Given the description of an element on the screen output the (x, y) to click on. 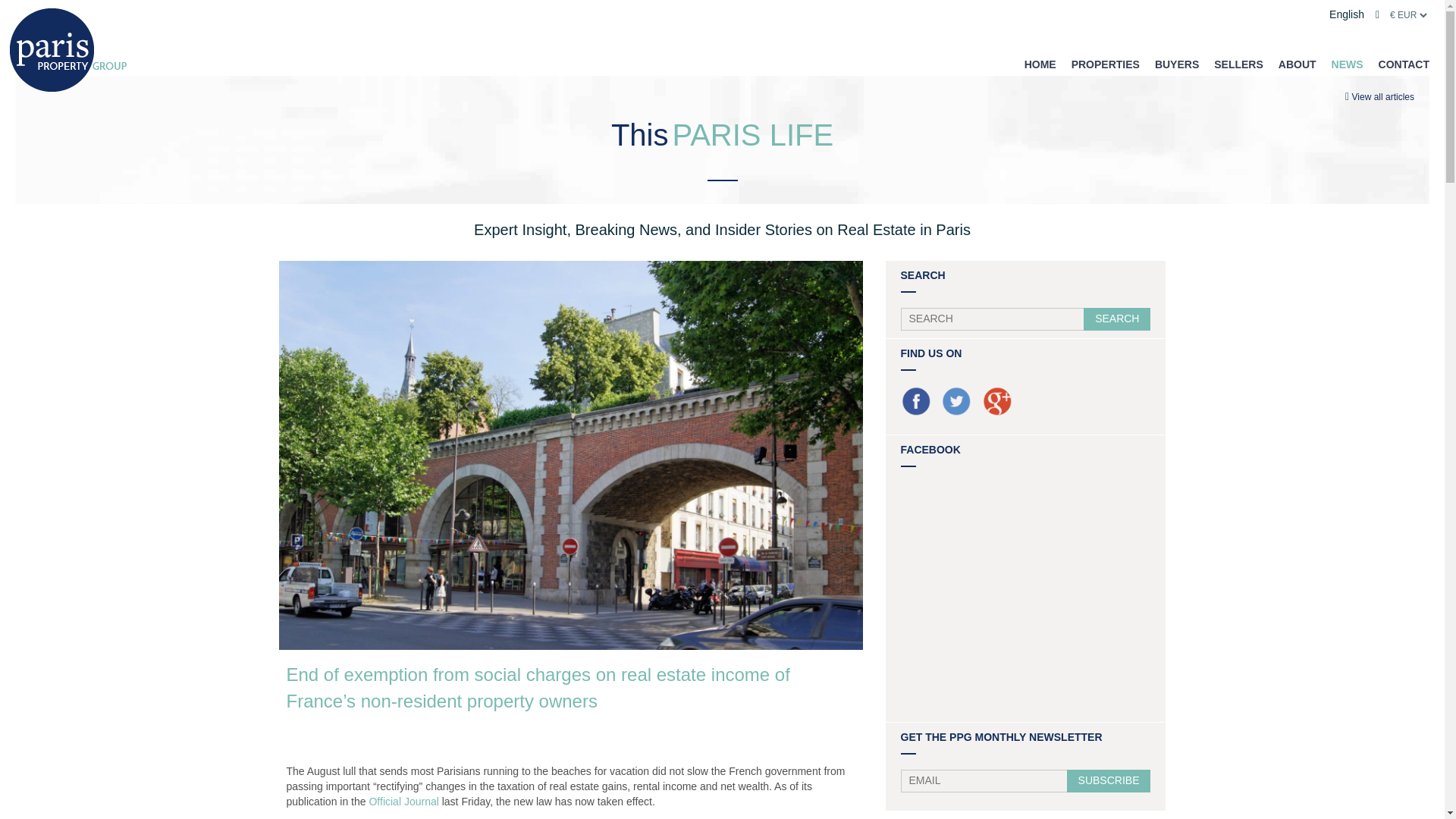
PROPERTIES (1105, 64)
ABOUT (1297, 64)
SELLERS (1238, 64)
BUYERS (1176, 64)
Official Journal (403, 801)
NEWS (1347, 64)
View all articles (1382, 96)
HOME (1041, 64)
